Given the description of an element on the screen output the (x, y) to click on. 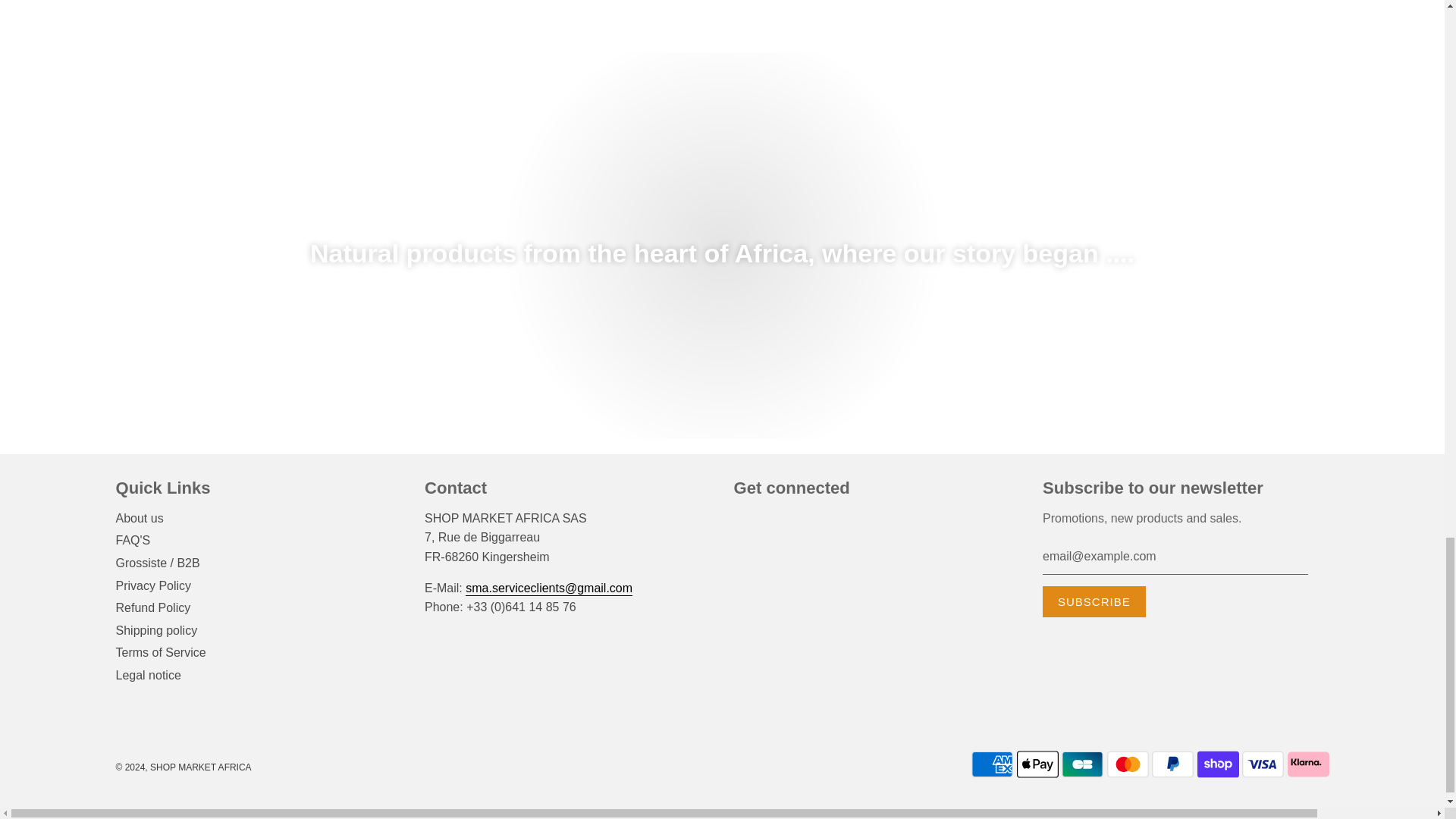
American Express (992, 764)
Visa (1262, 764)
Shop Pay (1217, 764)
Apple Pay (1037, 764)
PayPal (1172, 764)
Cartes Bancaires (1082, 764)
Mastercard (1127, 764)
Subscribe (1093, 601)
